Given the description of an element on the screen output the (x, y) to click on. 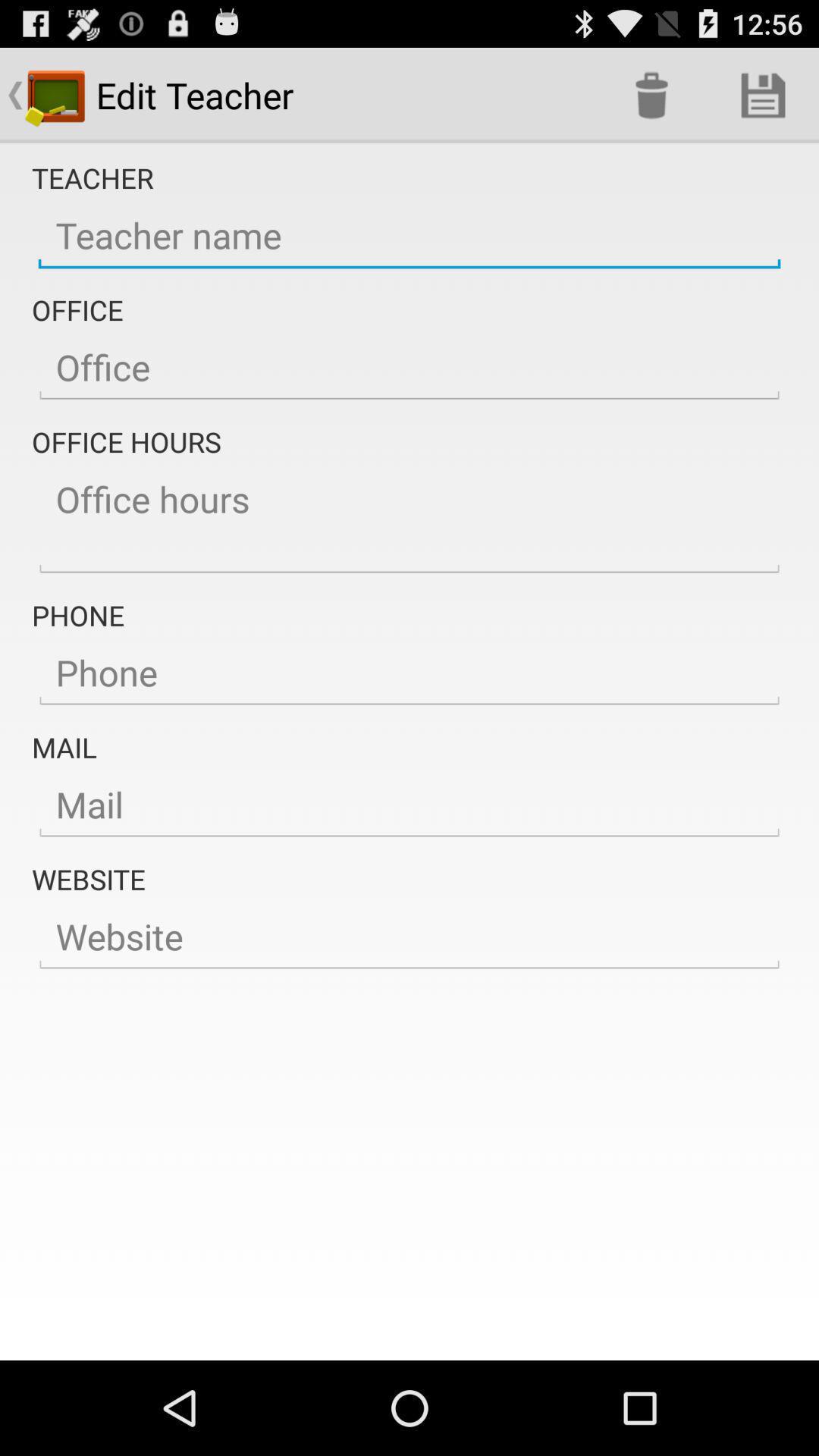
enter name (409, 235)
